Given the description of an element on the screen output the (x, y) to click on. 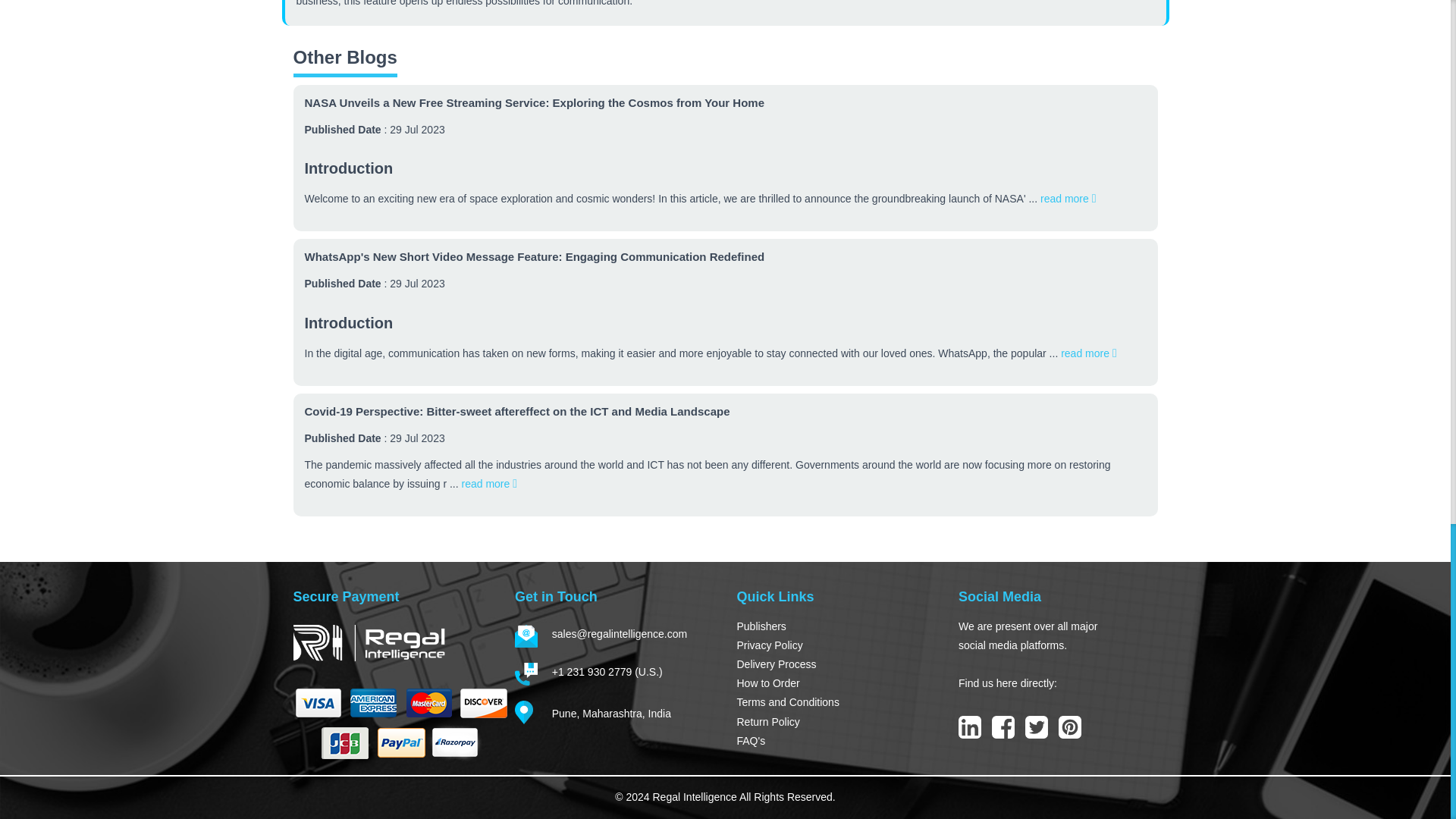
read more (1088, 353)
Return Policy (836, 722)
Publishers (836, 626)
FAQ's (836, 741)
read more (1068, 198)
How to Order (836, 683)
Privacy Policy (836, 645)
Terms and Conditions (836, 701)
